Given the description of an element on the screen output the (x, y) to click on. 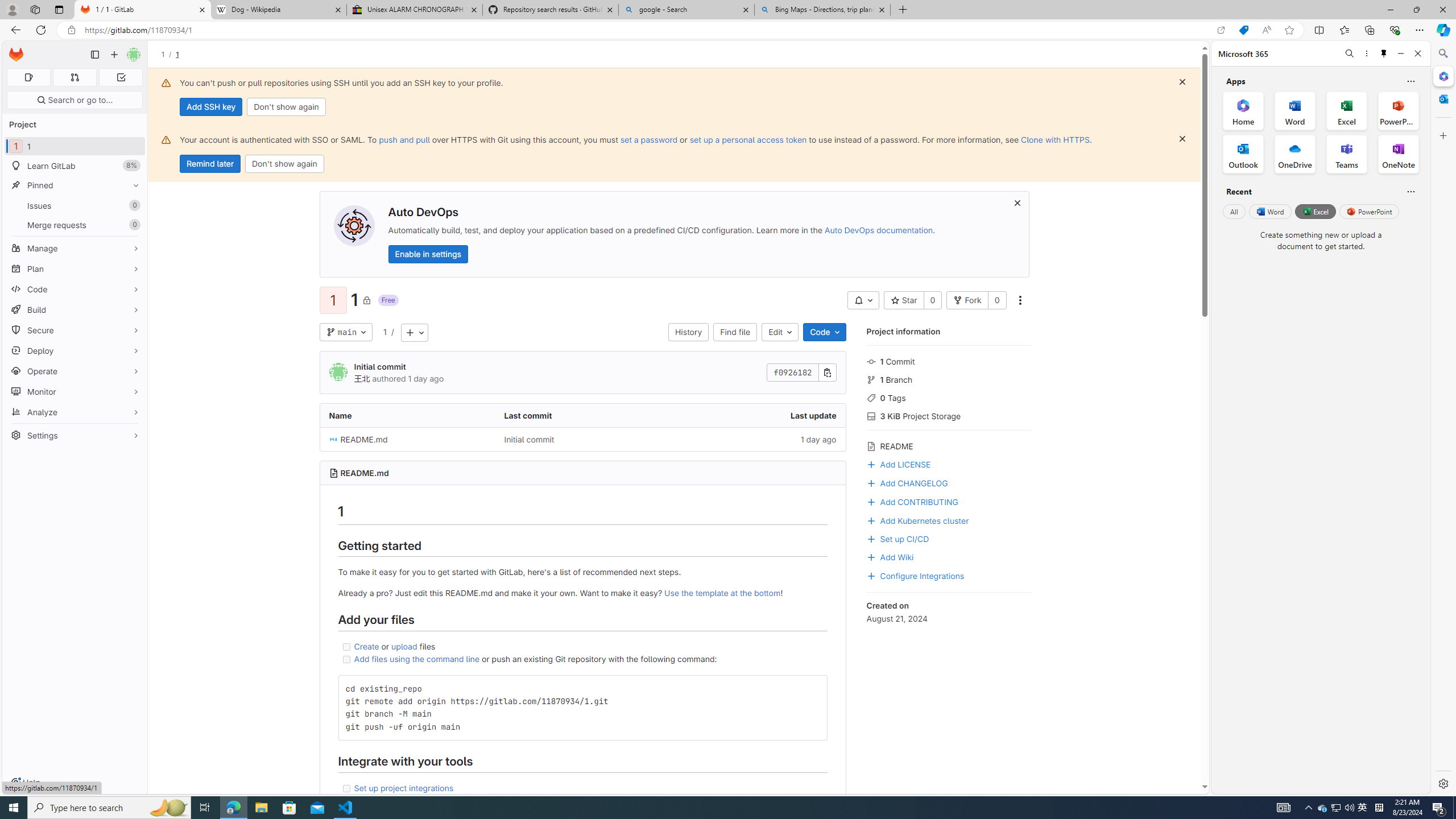
Deploy (74, 350)
Name (407, 415)
Class: s16 gl-mr-3 (871, 556)
Merge requests0 (74, 224)
Word Office App (1295, 110)
Learn GitLab 8% (74, 165)
Issues 0 (74, 205)
Auto DevOps documentation (878, 230)
More actions (1019, 300)
